Given the description of an element on the screen output the (x, y) to click on. 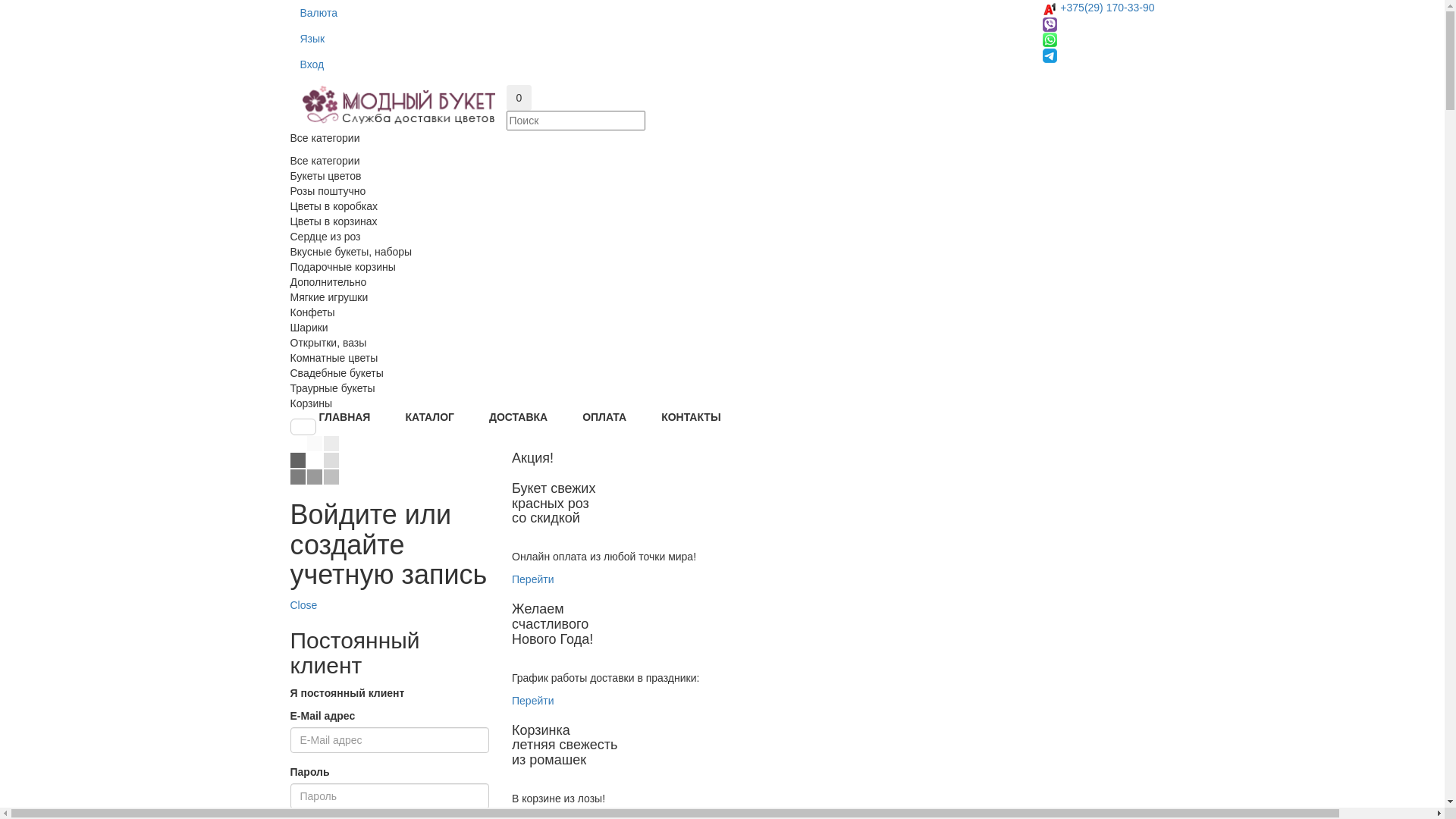
0 Element type: text (519, 97)
Close Element type: text (302, 605)
+375(29) 170-33-90 Element type: text (1107, 7)
